Given the description of an element on the screen output the (x, y) to click on. 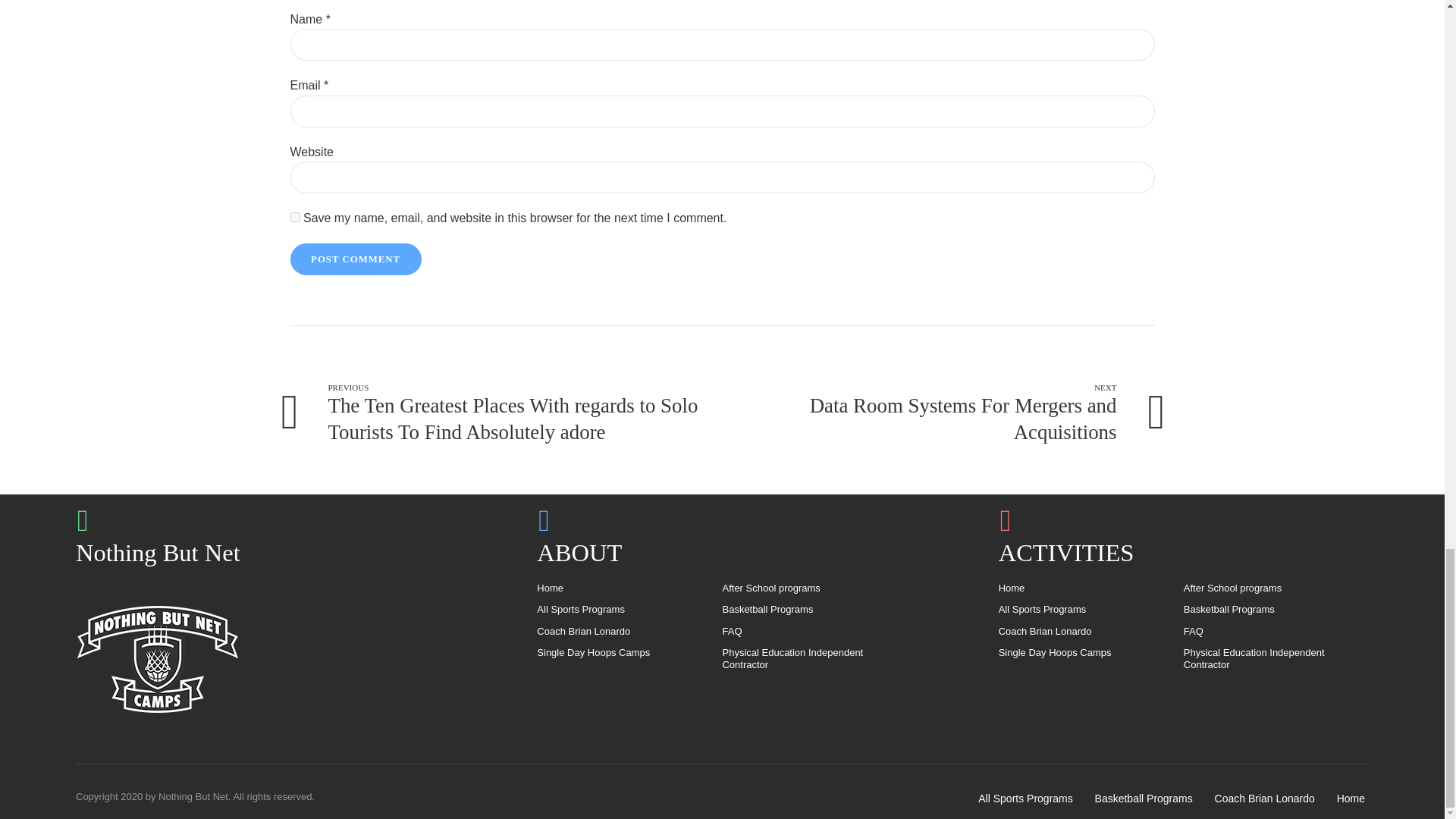
Basketball Programs (1230, 609)
Single Day Hoops Camps (595, 652)
Home (552, 587)
yes (294, 216)
FAQ (733, 631)
Home (1013, 587)
POST COMMENT (354, 259)
After School programs (773, 587)
Coach Brian Lonardo (1047, 631)
